Given the description of an element on the screen output the (x, y) to click on. 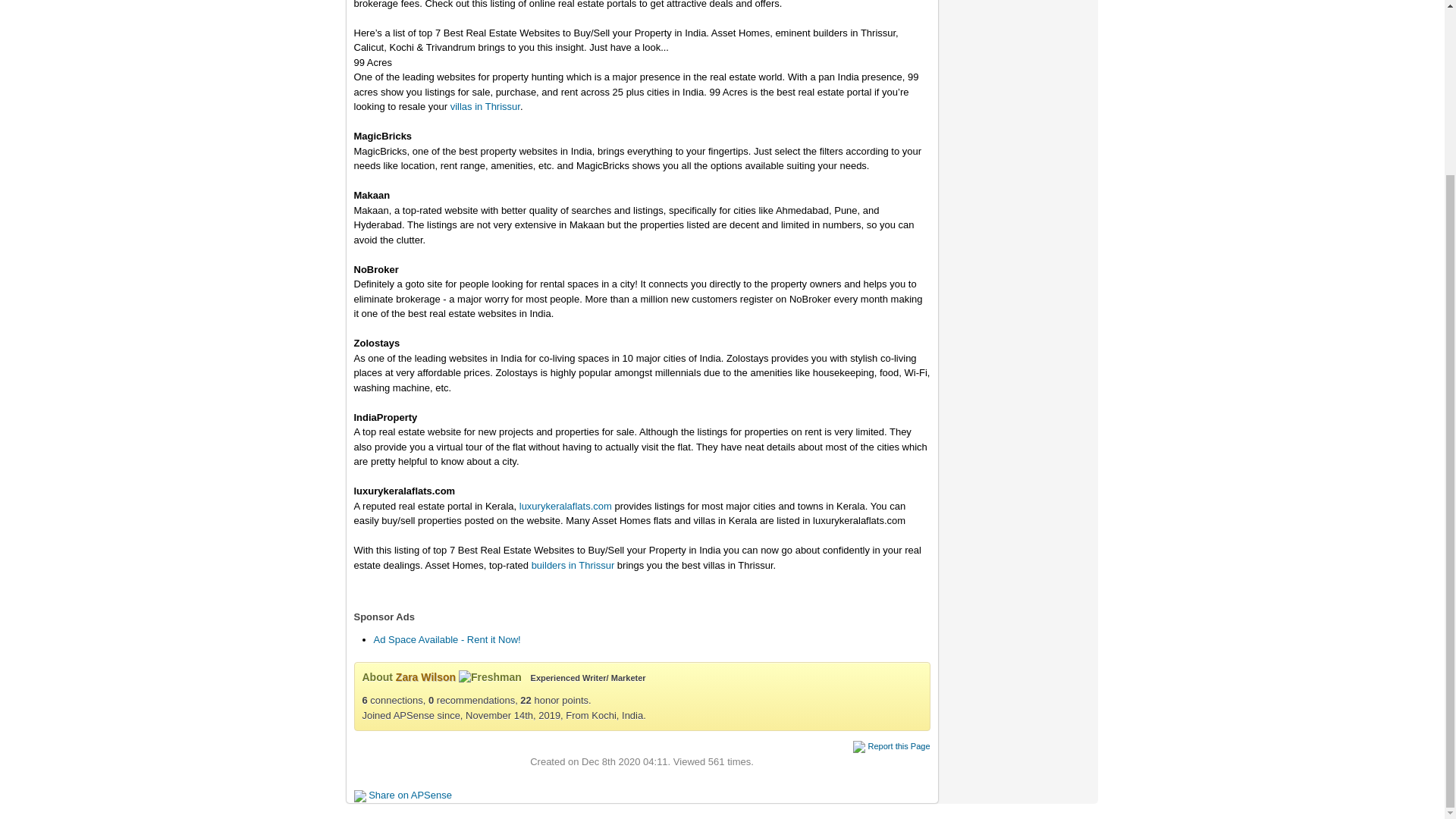
luxurykeralaflats.com (565, 505)
Share on APSense (409, 794)
villas in Thrissur (484, 106)
Zara Wilson (425, 676)
Ad Space Available - Rent it Now! (445, 639)
Freshman (489, 677)
builders in Thrissur (572, 564)
Report this Page (898, 746)
Share on APSense (409, 794)
